Given the description of an element on the screen output the (x, y) to click on. 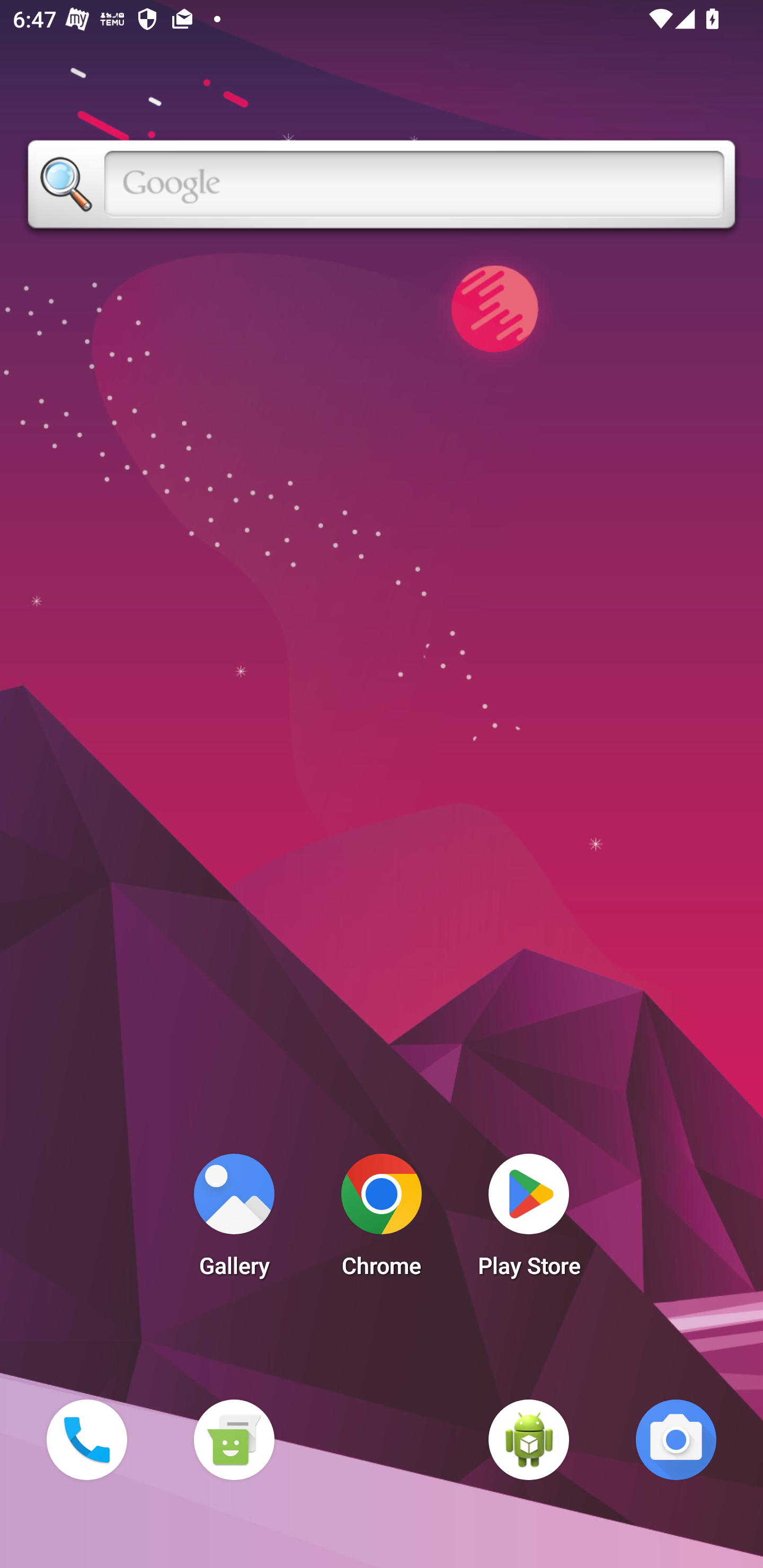
Gallery (233, 1220)
Chrome (381, 1220)
Play Store (528, 1220)
Phone (86, 1439)
Messaging (233, 1439)
WebView Browser Tester (528, 1439)
Camera (676, 1439)
